Given the description of an element on the screen output the (x, y) to click on. 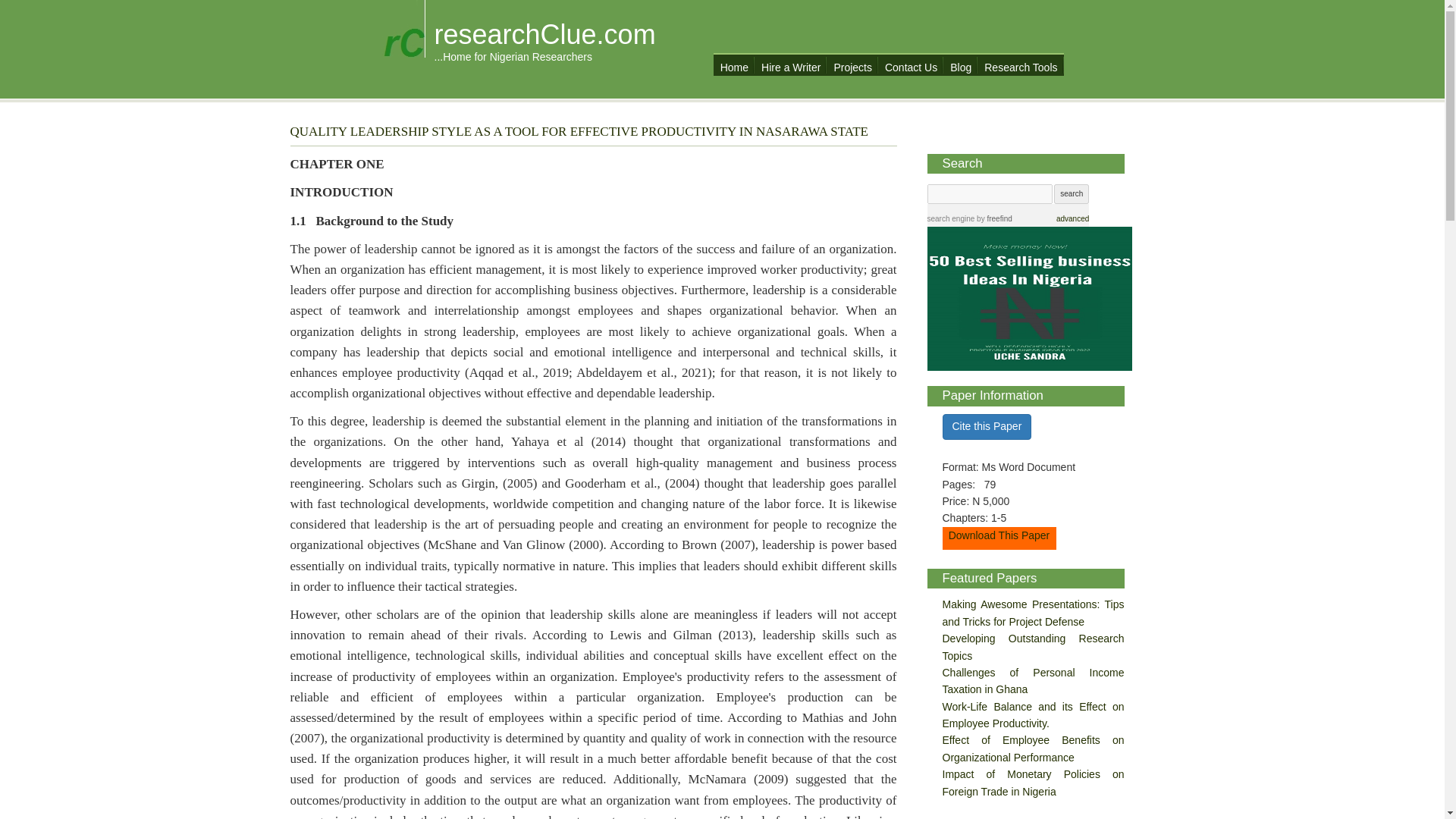
Work-Life Balance and its Effect on Employee Productivity. (1033, 715)
search (1071, 193)
Developing Outstanding Research Topics (1033, 646)
Challenges of Personal Income Taxation in Ghana (1033, 680)
Home (734, 65)
search engine (950, 218)
Blog (959, 65)
Impact of Monetary Policies on Foreign Trade in Nigeria (1033, 782)
Cite this Paper (986, 426)
researchClue.com (544, 33)
advanced (1073, 218)
by freefind (992, 218)
Download This Paper (999, 535)
Hire a Writer (791, 65)
